Given the description of an element on the screen output the (x, y) to click on. 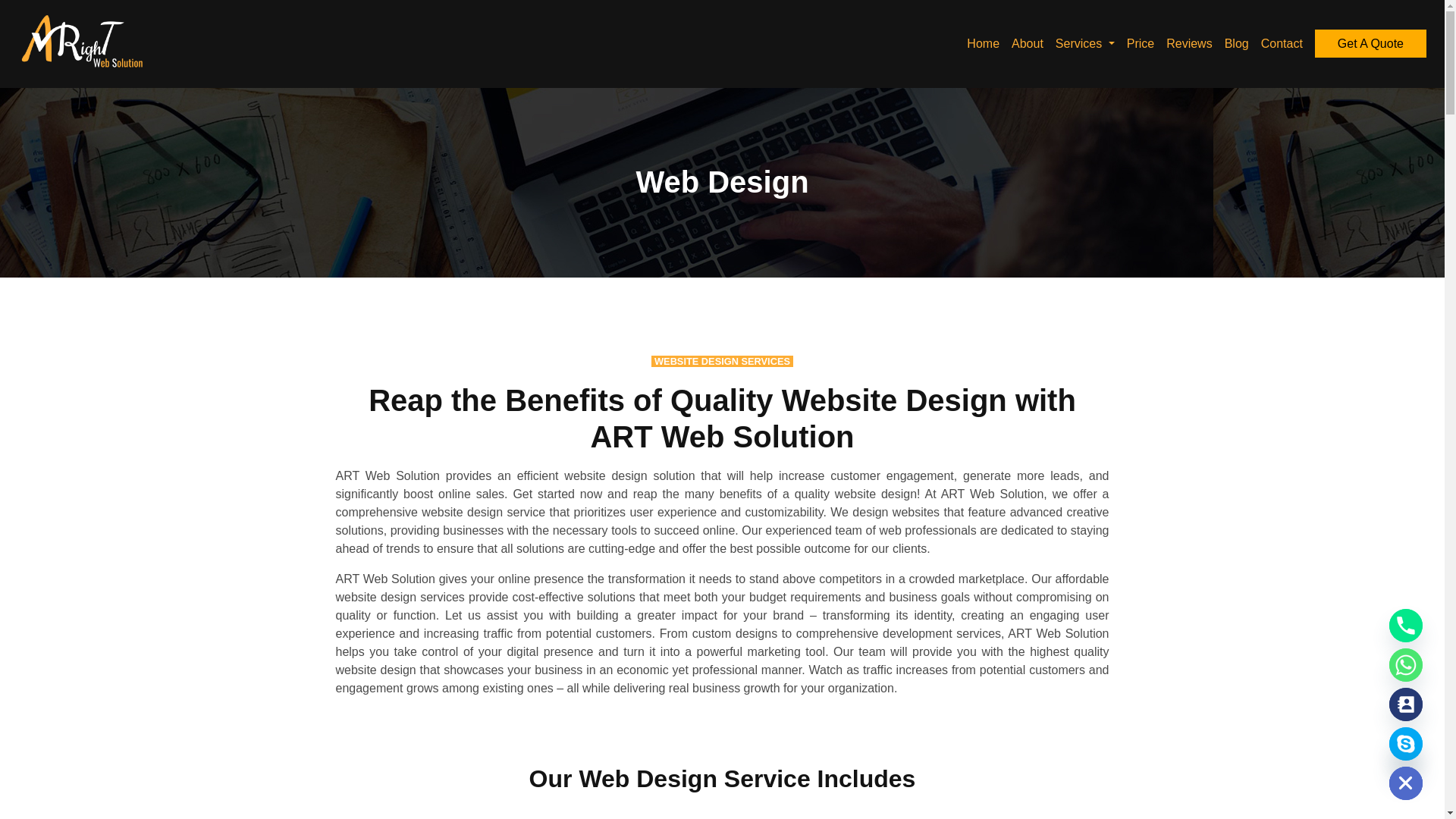
Price (1140, 42)
Contact (1281, 42)
Reviews (1188, 42)
Contact (1281, 42)
Reviews (1188, 42)
Price (1140, 42)
About (1027, 42)
Services (1085, 42)
Get A Quote (1370, 43)
About (1027, 42)
Services (1085, 42)
Home (982, 42)
Blog (1236, 42)
Home (982, 42)
Blog (1236, 42)
